Given the description of an element on the screen output the (x, y) to click on. 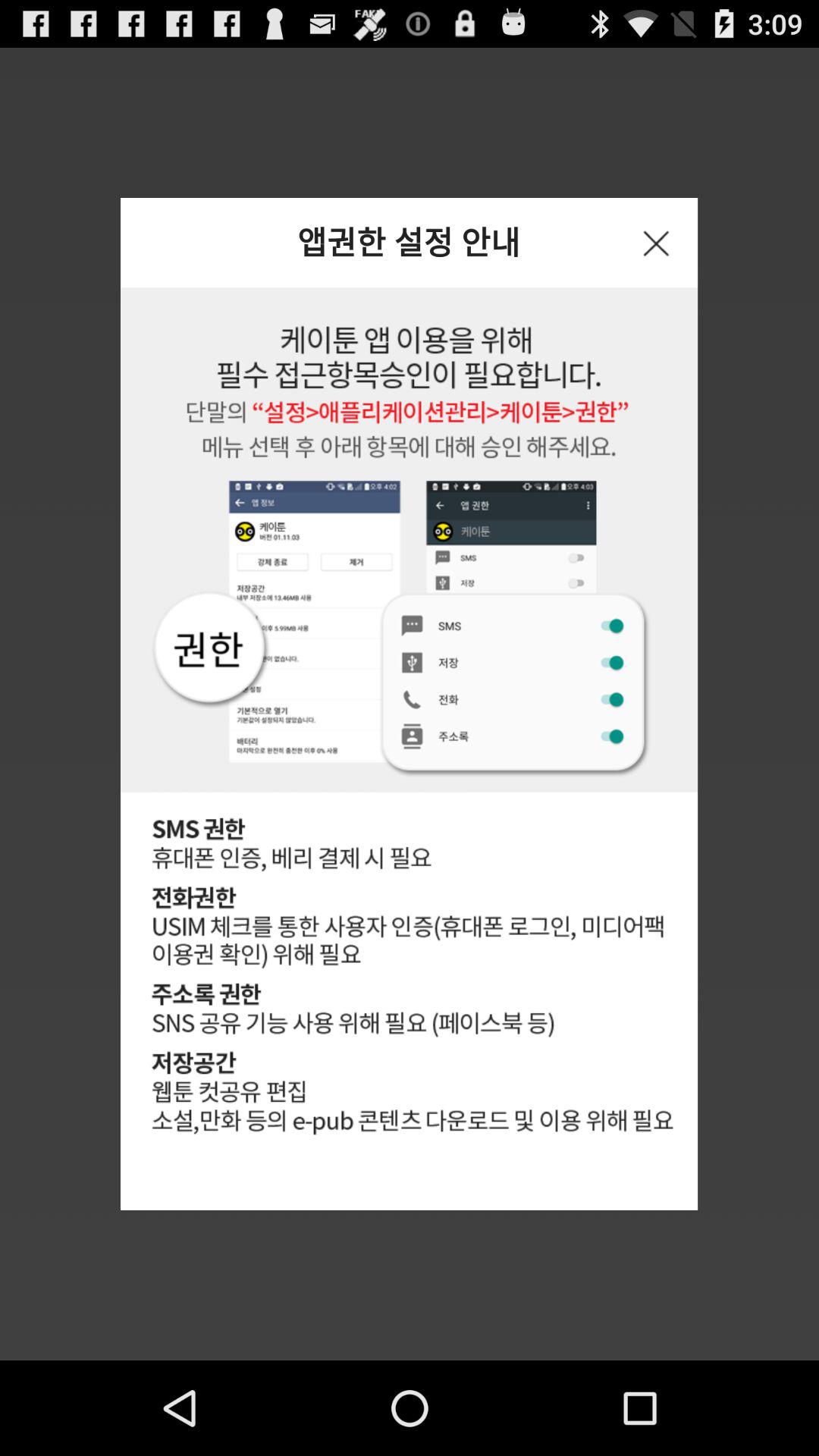
launch the icon at the top right corner (655, 242)
